Given the description of an element on the screen output the (x, y) to click on. 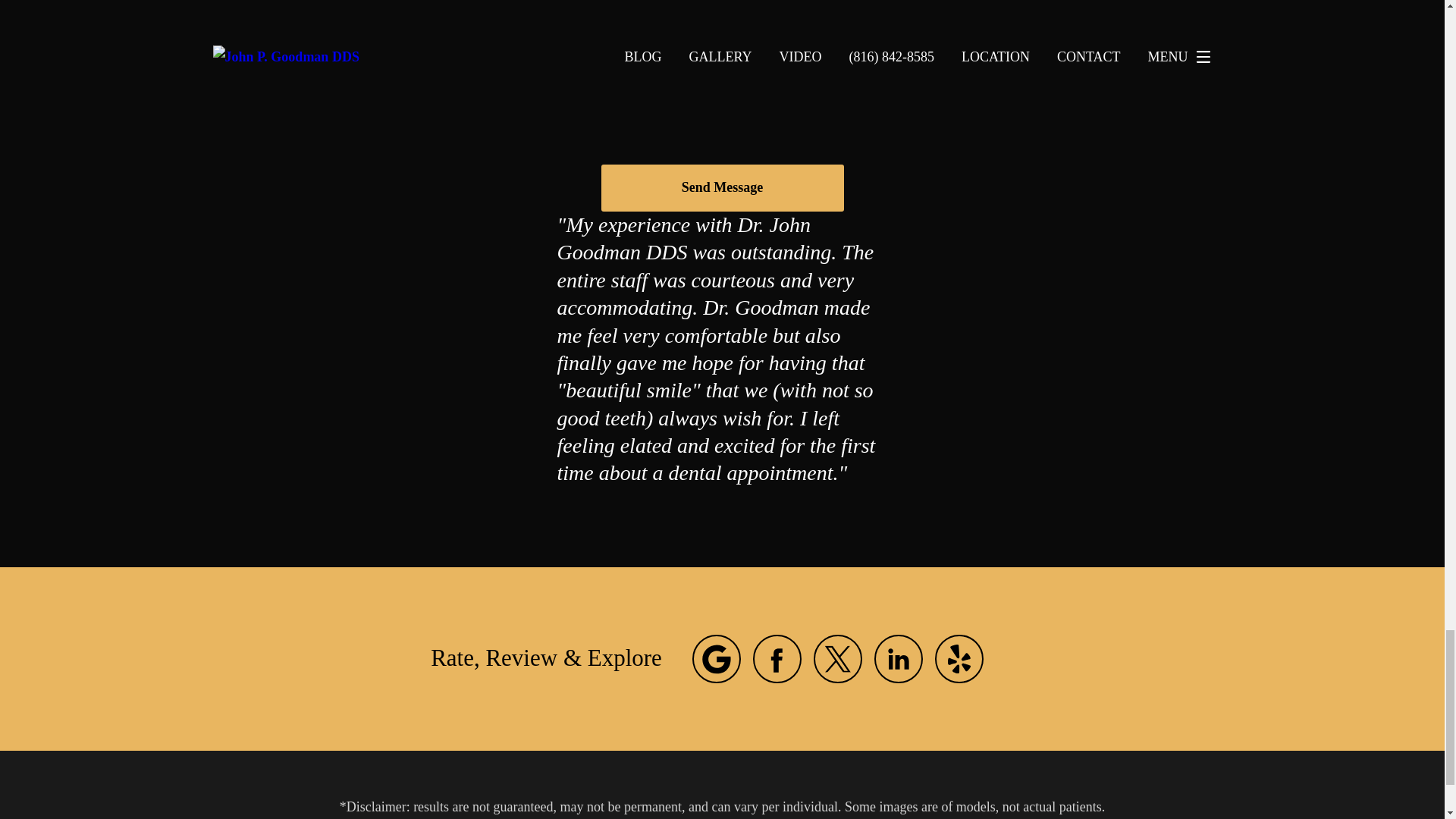
Facebook (777, 658)
Send Message (721, 187)
LinkedIn (899, 658)
Google (717, 658)
Yelp (959, 658)
Twitter (837, 658)
